Given the description of an element on the screen output the (x, y) to click on. 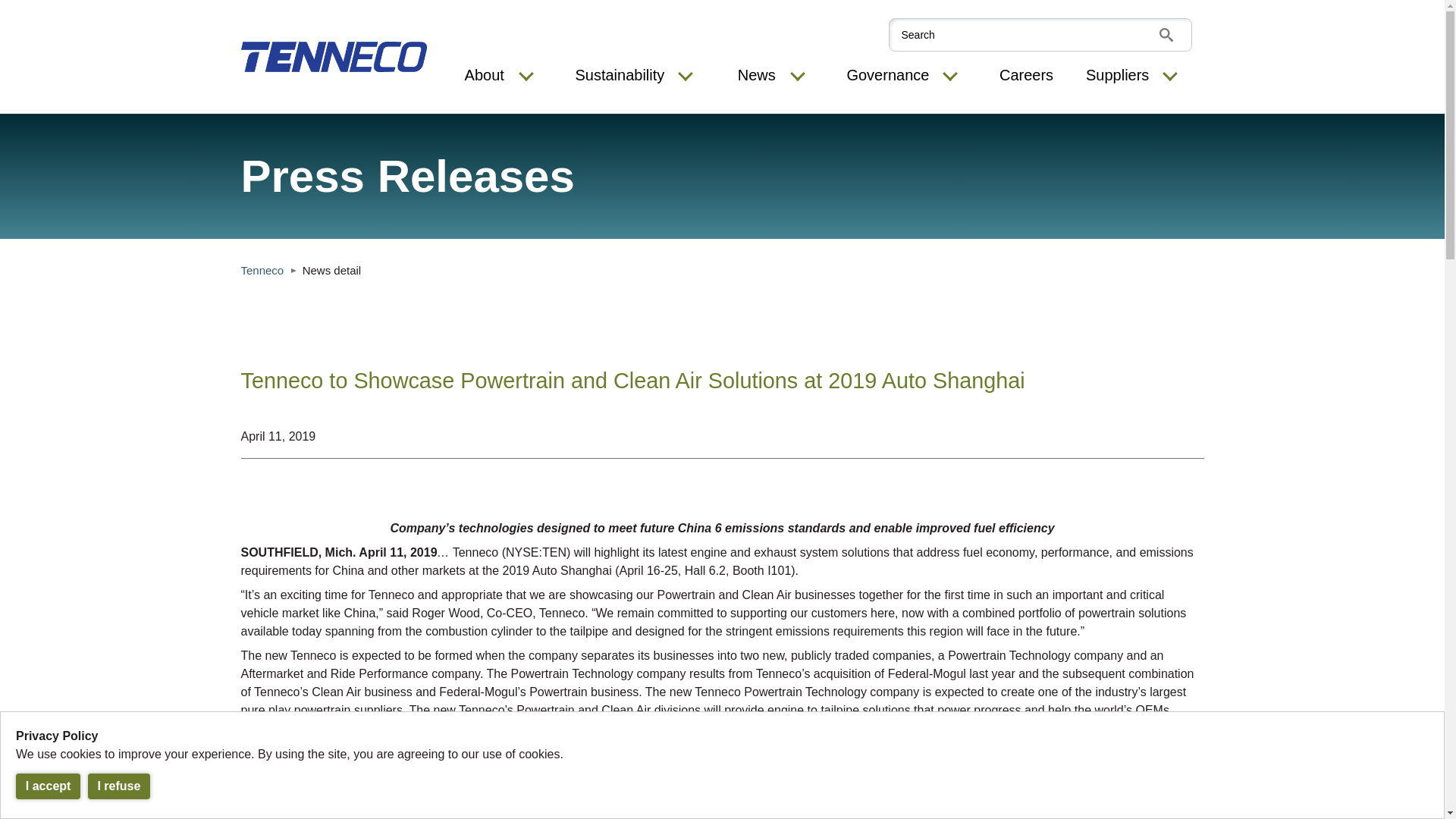
Search button (1165, 35)
Suppliers (1117, 75)
Careers (1025, 75)
I refuse (119, 786)
Governance (887, 75)
News (756, 75)
I accept (48, 786)
Sustainability (619, 75)
About (483, 75)
